Given the description of an element on the screen output the (x, y) to click on. 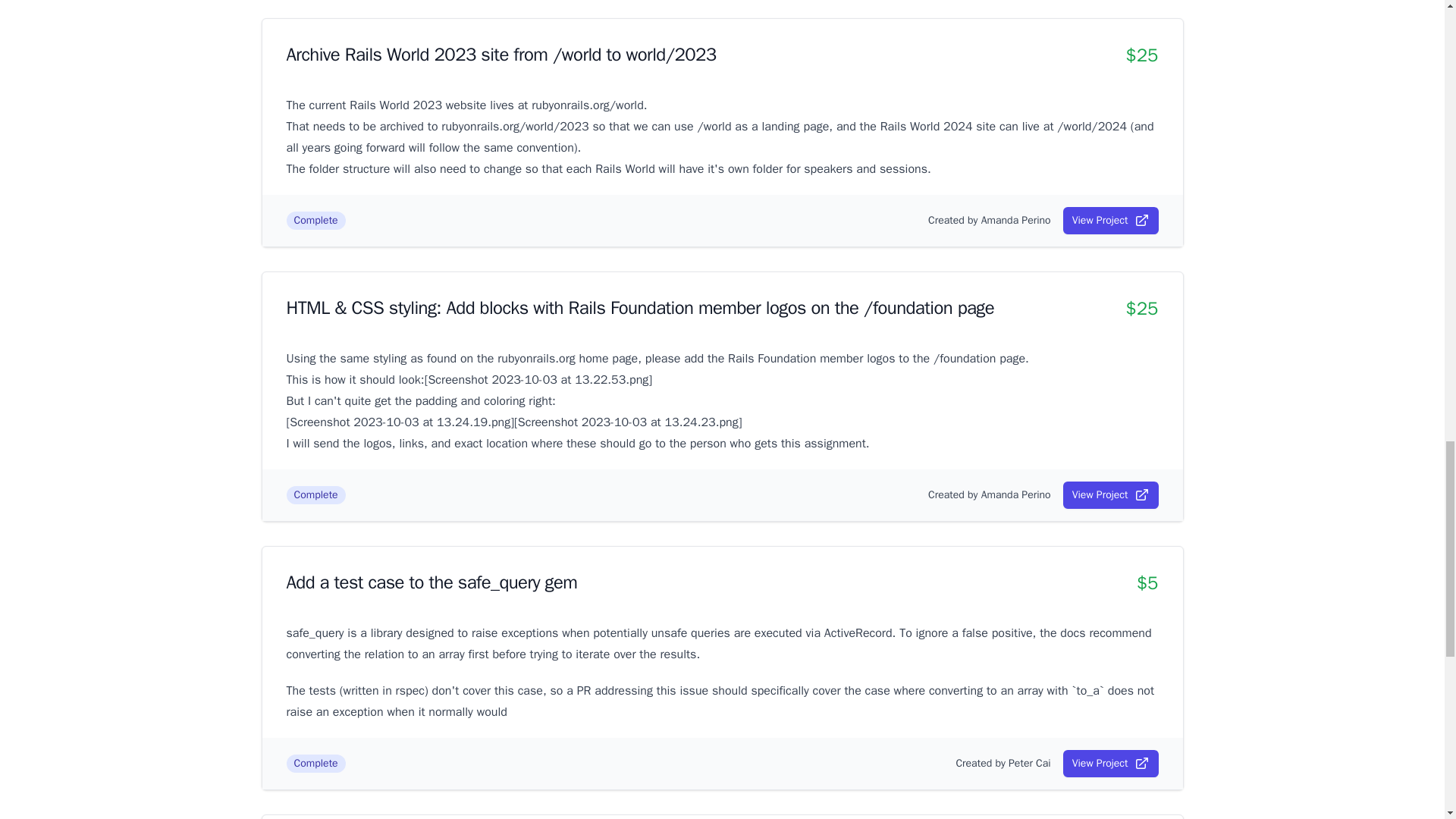
View Project (1110, 494)
View Project (1110, 763)
View Project (1110, 220)
